Given the description of an element on the screen output the (x, y) to click on. 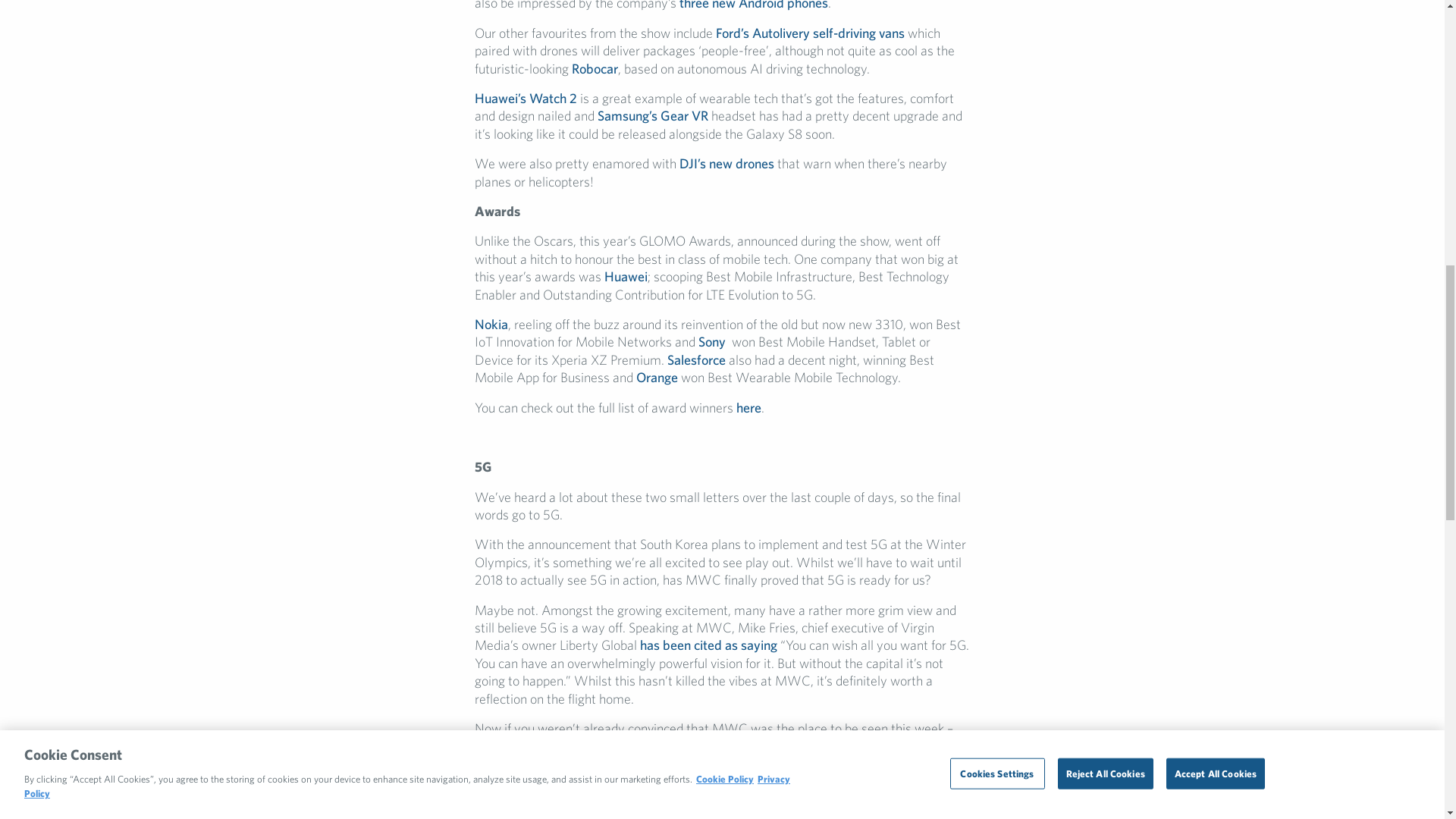
Sony (711, 341)
Huawei (625, 276)
Nokia (491, 324)
Robocar (594, 68)
Salesforce (695, 359)
three new Android phones (753, 5)
